Given the description of an element on the screen output the (x, y) to click on. 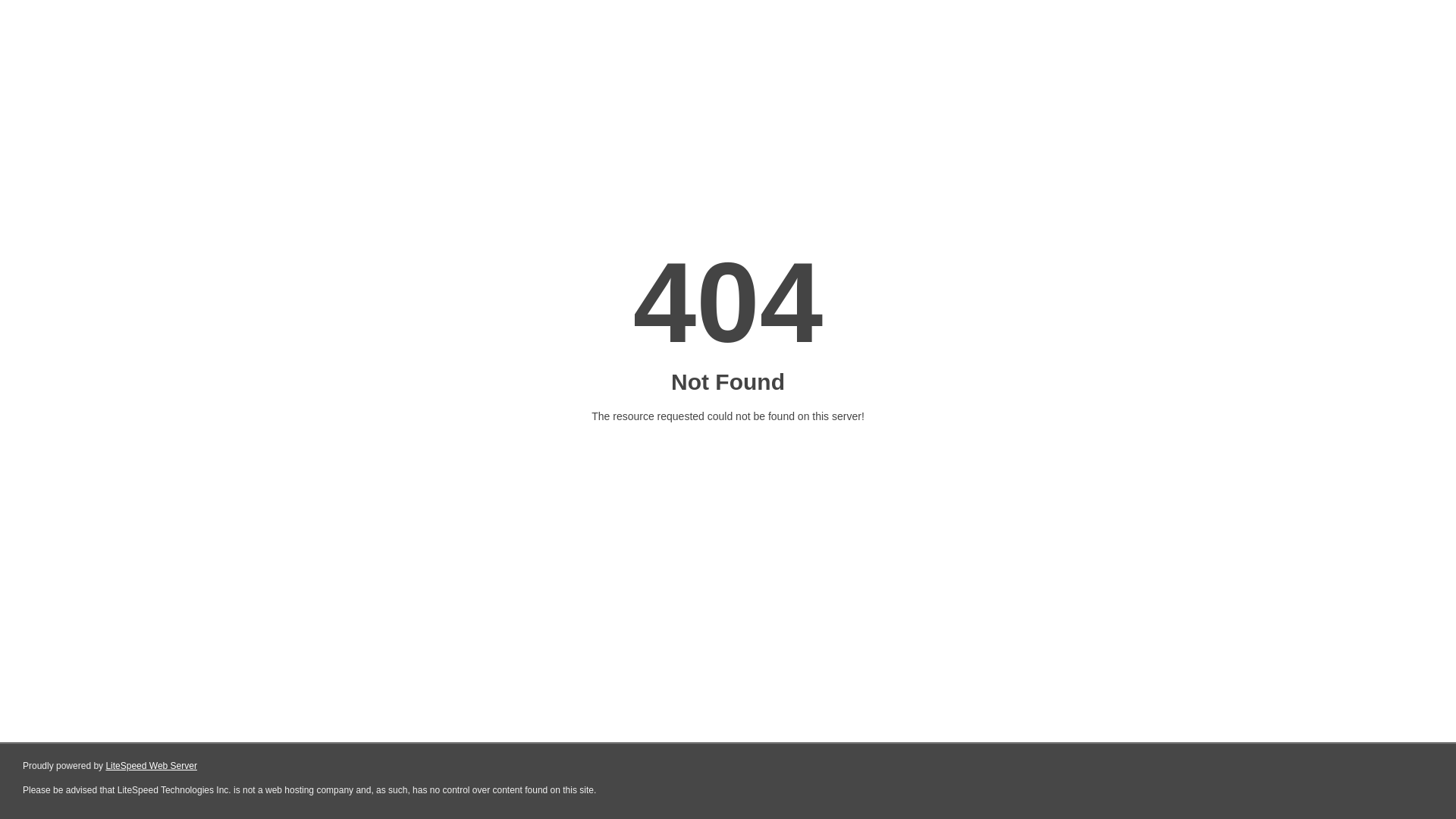
LiteSpeed Web Server Element type: text (151, 765)
